Given the description of an element on the screen output the (x, y) to click on. 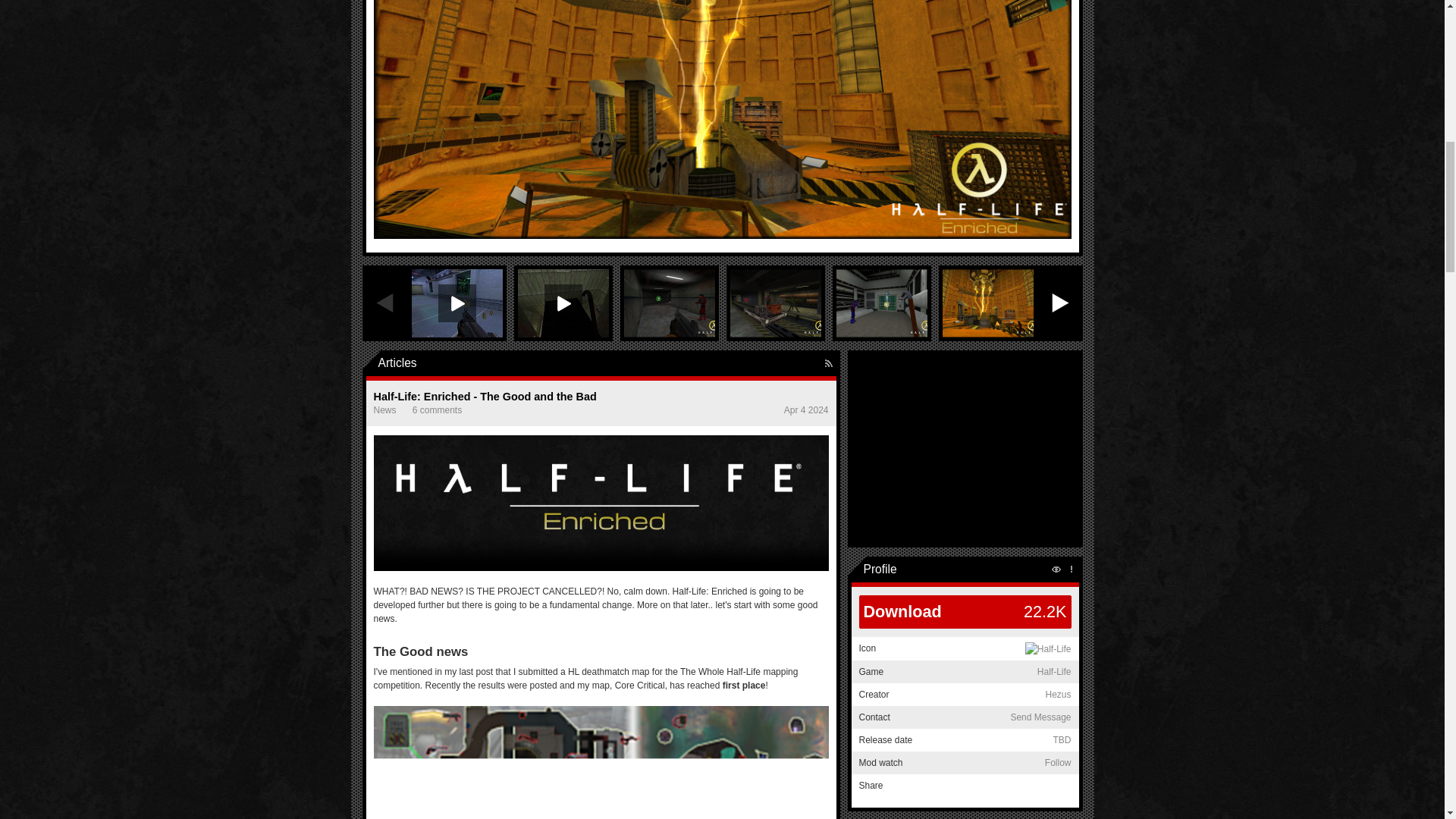
Half-Life: Enriched - 10 : Questionable Ethics Playthrough (456, 303)
Co-operative play! (987, 303)
Co-operative play! (775, 303)
Co-operative play! (880, 303)
Half-Life: Enriched - 9 : Residue Processing Playthrough (562, 303)
Co-operative play! (668, 303)
